Given the description of an element on the screen output the (x, y) to click on. 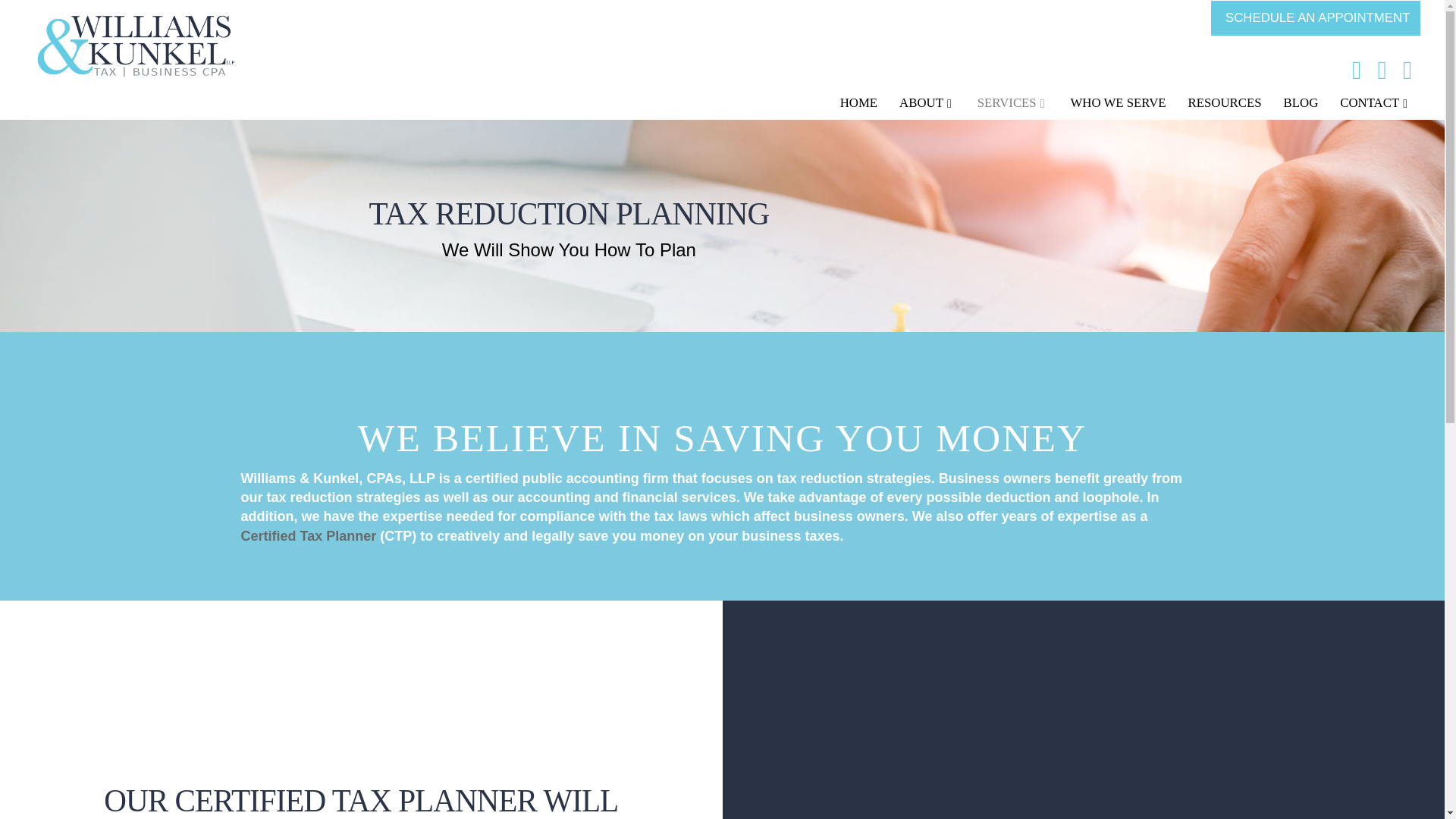
CONTACT (1373, 102)
ABOUT (924, 102)
Certified Tax Planner (310, 535)
RESOURCES (1222, 102)
HOME (856, 102)
BLOG (1299, 102)
SERVICES (1010, 102)
WHO WE SERVE (1116, 102)
SCHEDULE AN APPOINTMENT (1316, 17)
